Given the description of an element on the screen output the (x, y) to click on. 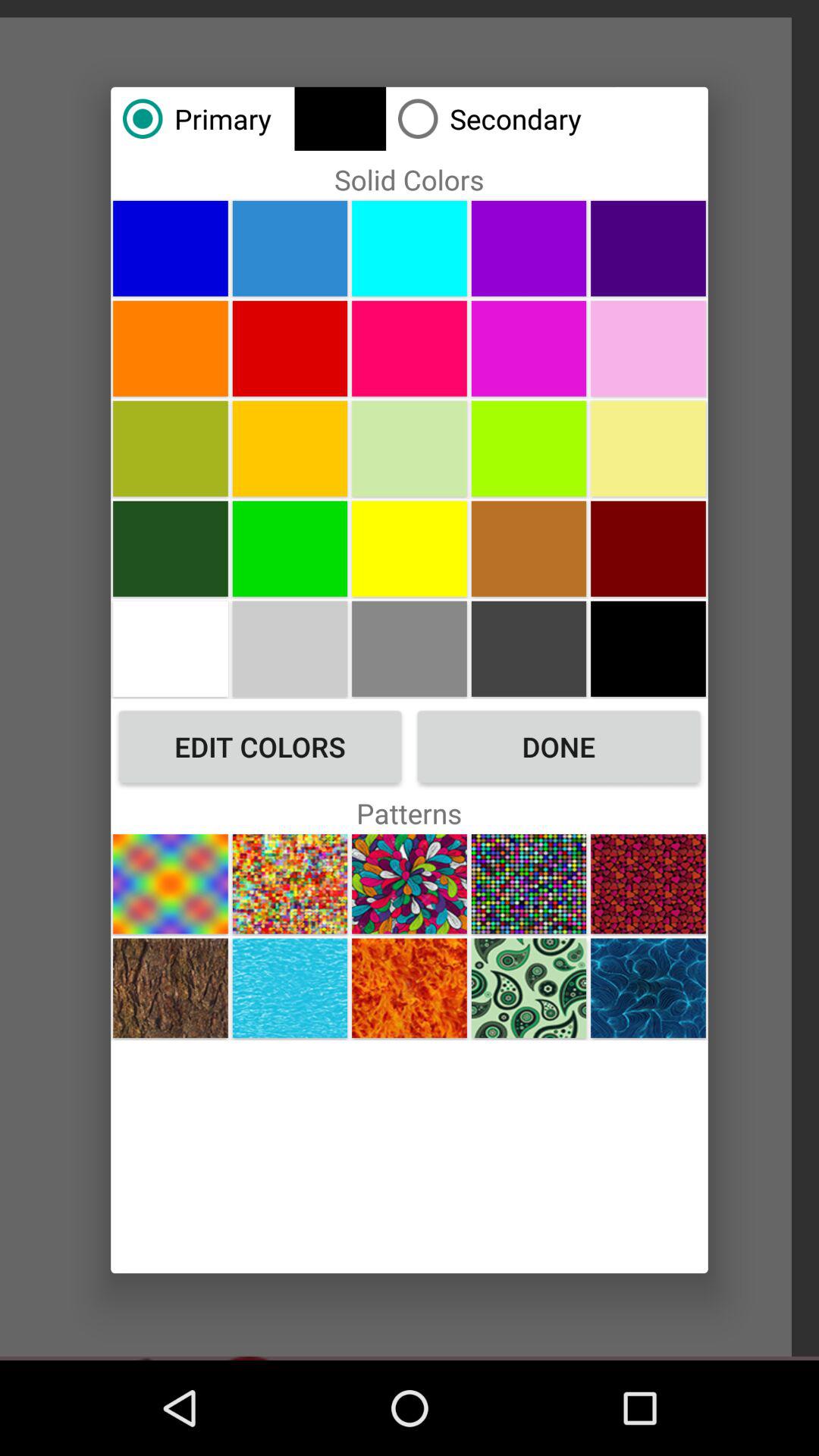
select solid color (409, 448)
